Given the description of an element on the screen output the (x, y) to click on. 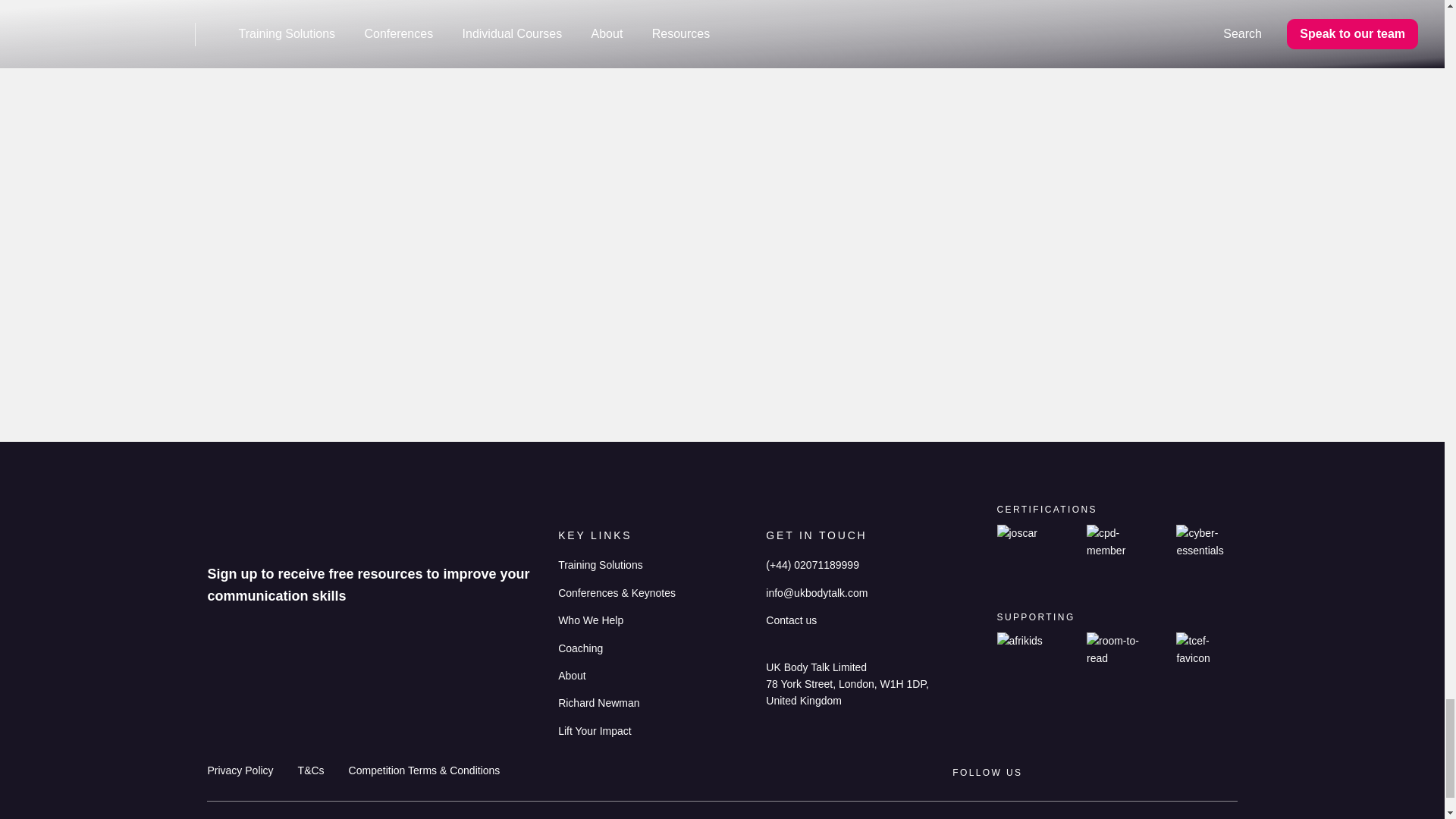
Linkedin (1081, 772)
Tiktok (1168, 772)
Youtube (1139, 772)
Instagram (1108, 772)
Twitter (1228, 772)
Facebook (1198, 772)
